Given the description of an element on the screen output the (x, y) to click on. 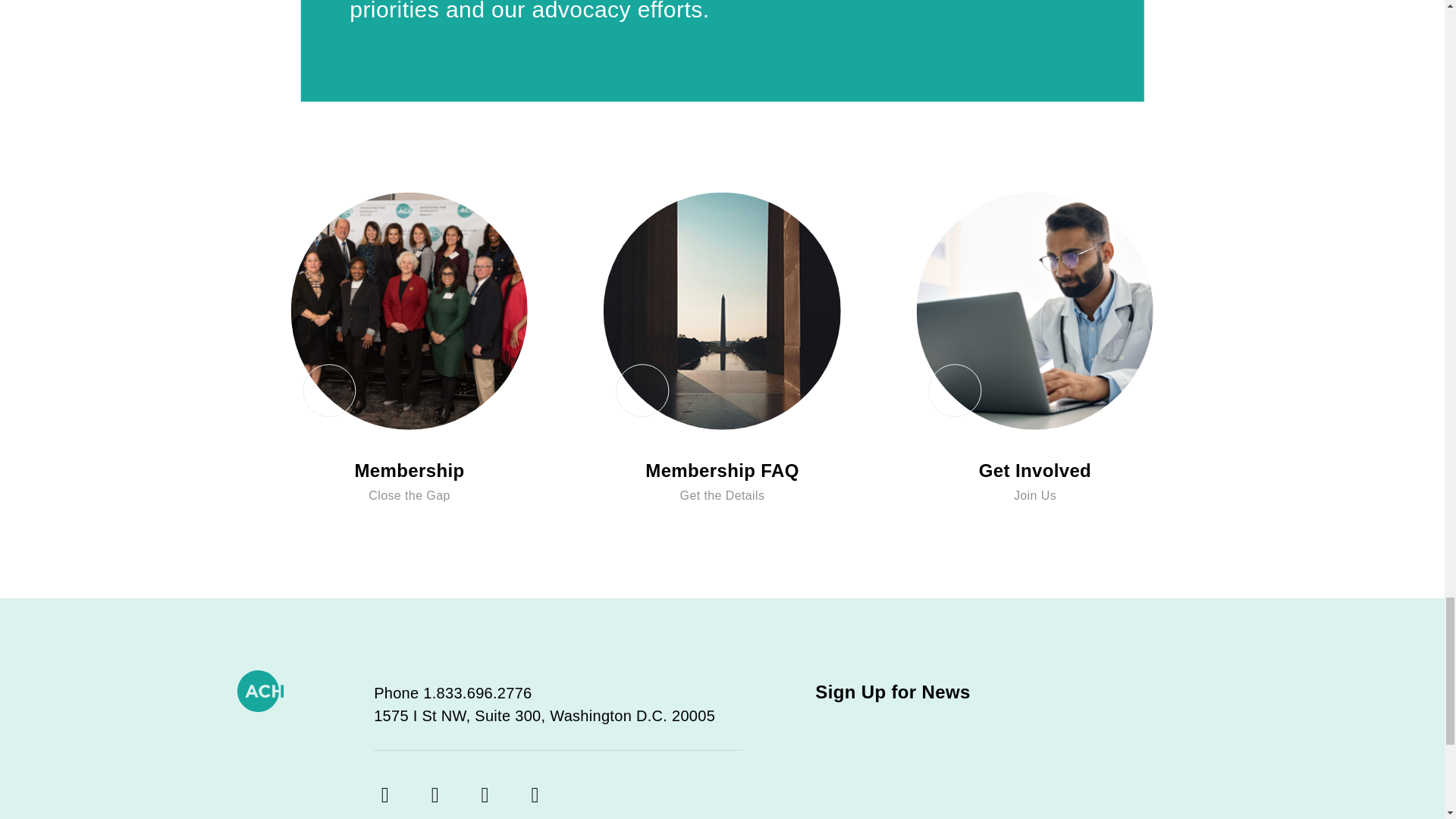
Form 0 (999, 768)
